Given the description of an element on the screen output the (x, y) to click on. 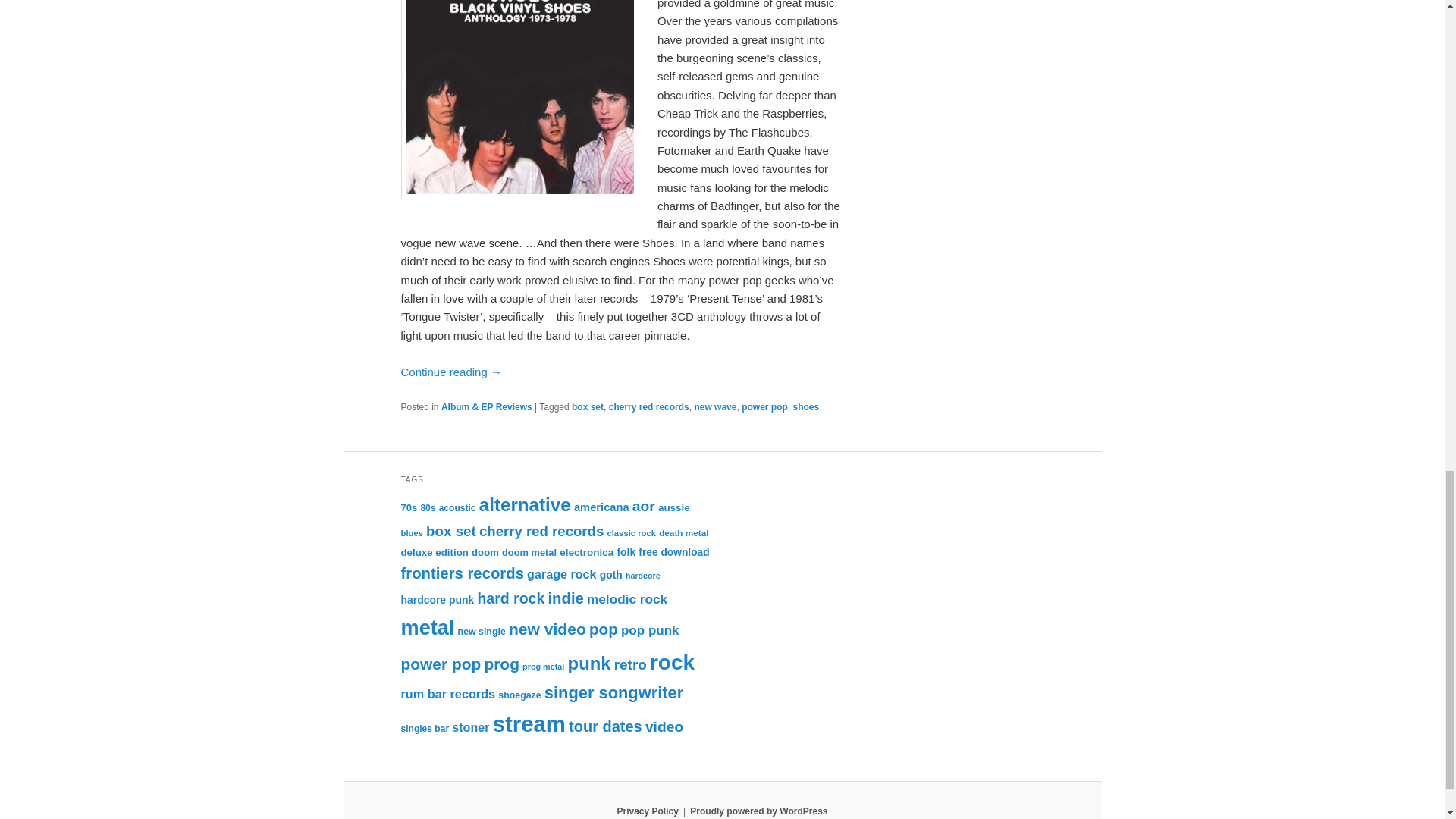
cherry red records (648, 407)
box set (588, 407)
Semantic Personal Publishing Platform (758, 810)
shoes (805, 407)
new wave (715, 407)
power pop (764, 407)
